Given the description of an element on the screen output the (x, y) to click on. 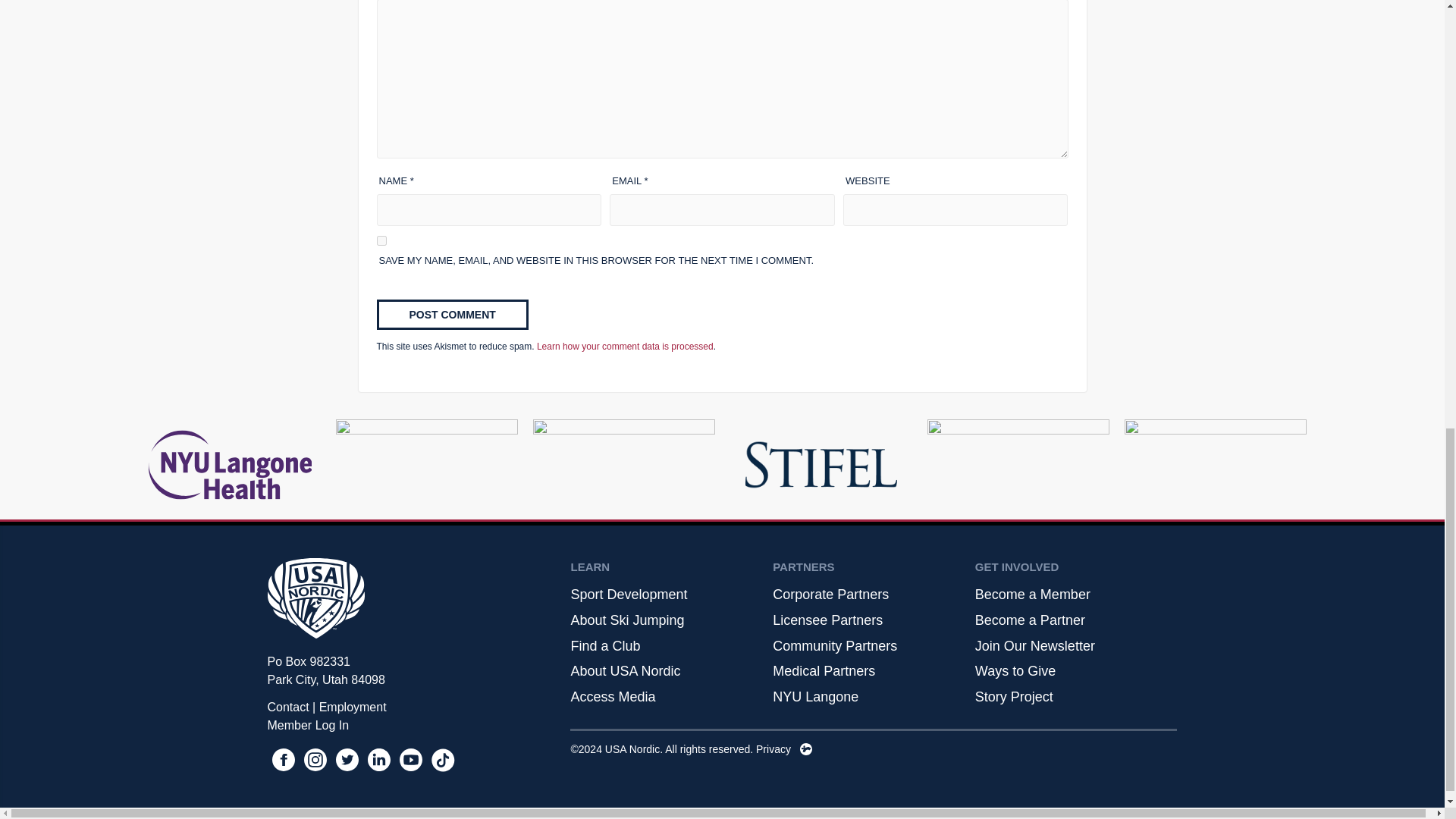
USA Nordic Sport (315, 600)
site by Spigot (805, 748)
yes (380, 240)
Post Comment (451, 314)
